Given the description of an element on the screen output the (x, y) to click on. 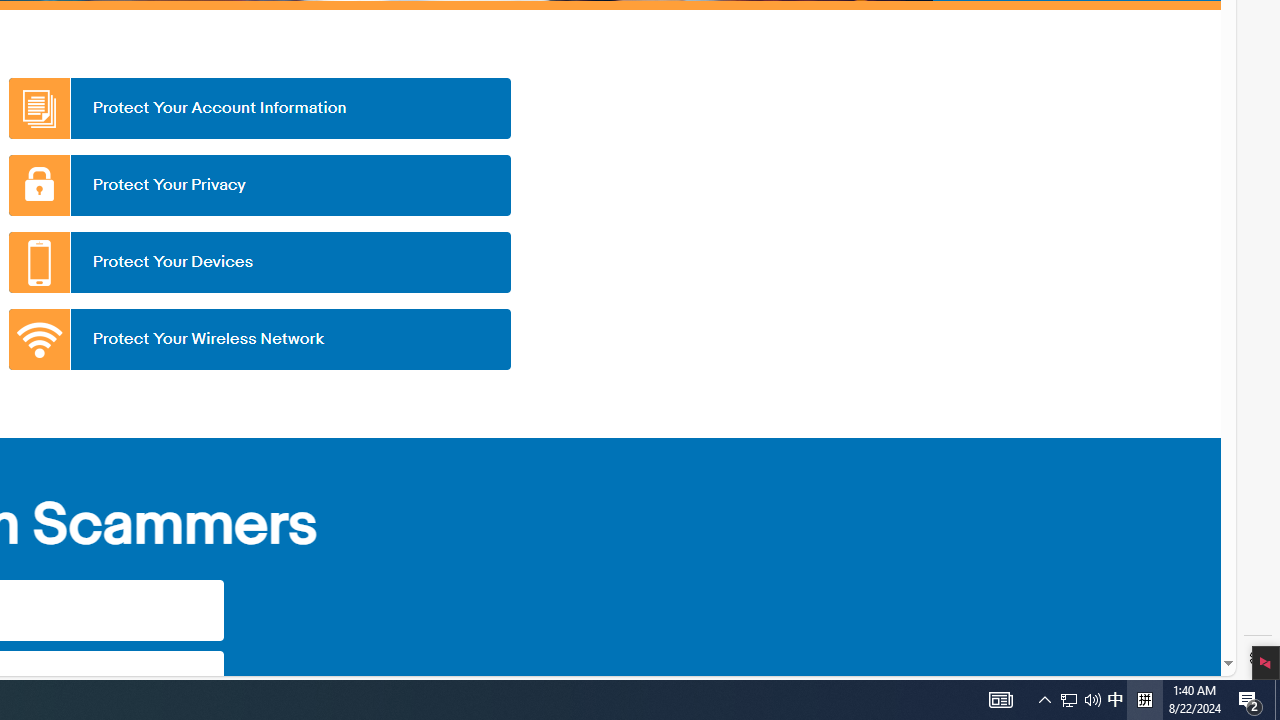
Protect Your Privacy (259, 185)
Protect Your Devices (259, 262)
Protect Your Account Information (259, 107)
Protect Your Wireless Network (259, 339)
